Given the description of an element on the screen output the (x, y) to click on. 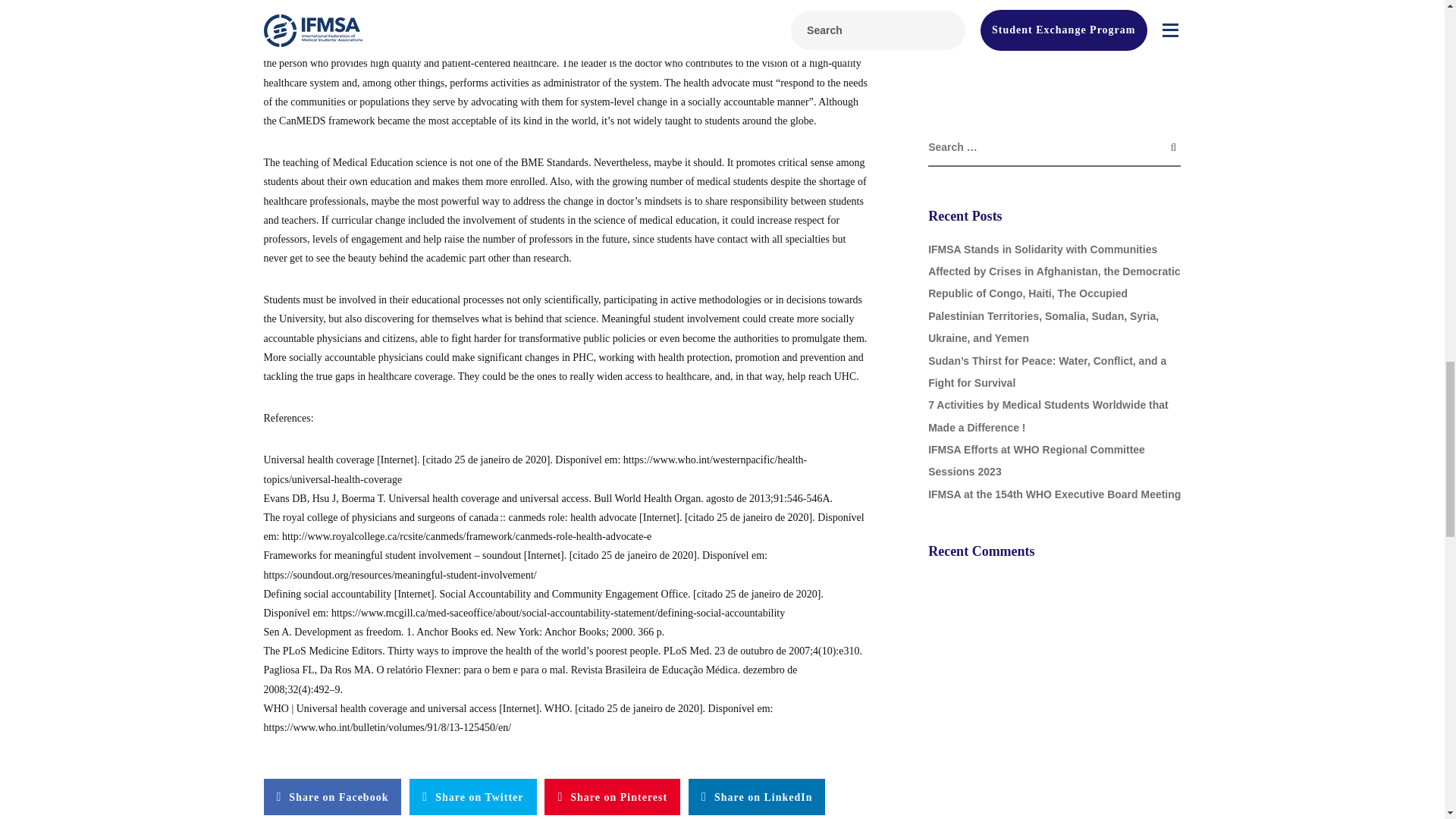
Share on LinkedIn (756, 796)
Share on Pinterest (611, 796)
Share on Twitter (472, 796)
Share on Facebook (332, 796)
